Given the description of an element on the screen output the (x, y) to click on. 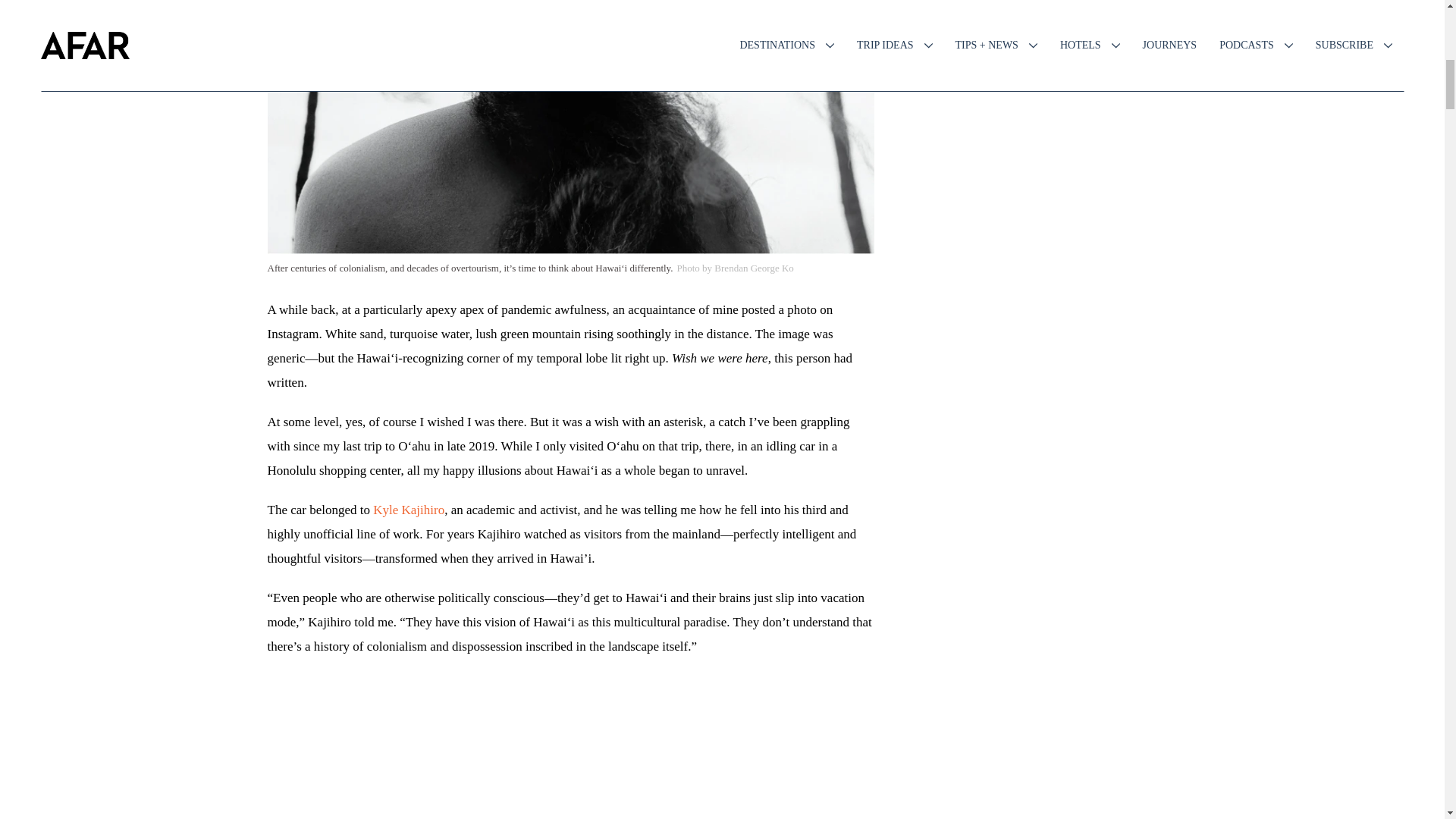
3rd party ad content (1055, 444)
3rd party ad content (569, 708)
